Given the description of an element on the screen output the (x, y) to click on. 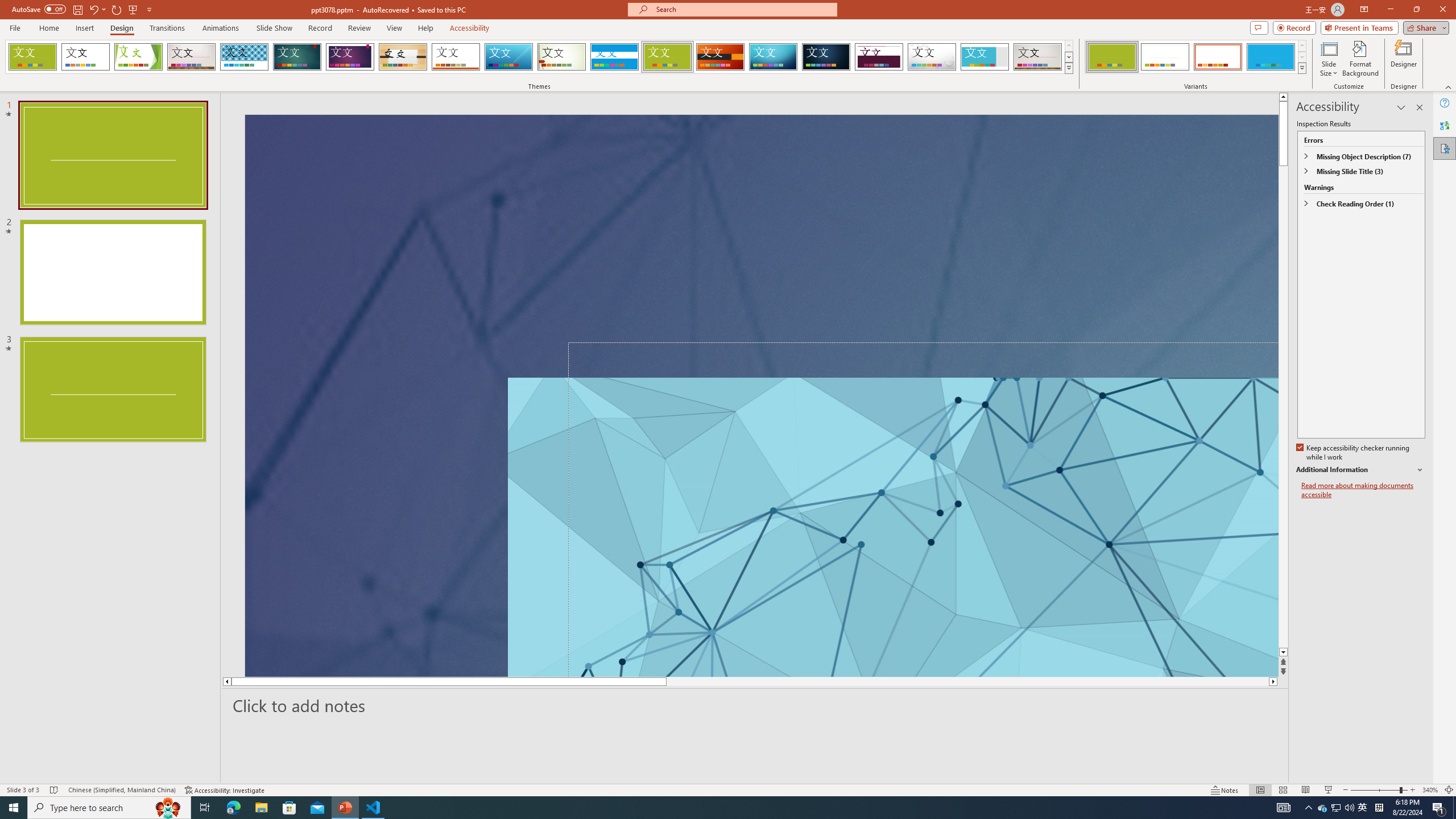
Basis Variant 4 (1270, 56)
Facet (138, 56)
Circuit (772, 56)
Gallery (1037, 56)
